Given the description of an element on the screen output the (x, y) to click on. 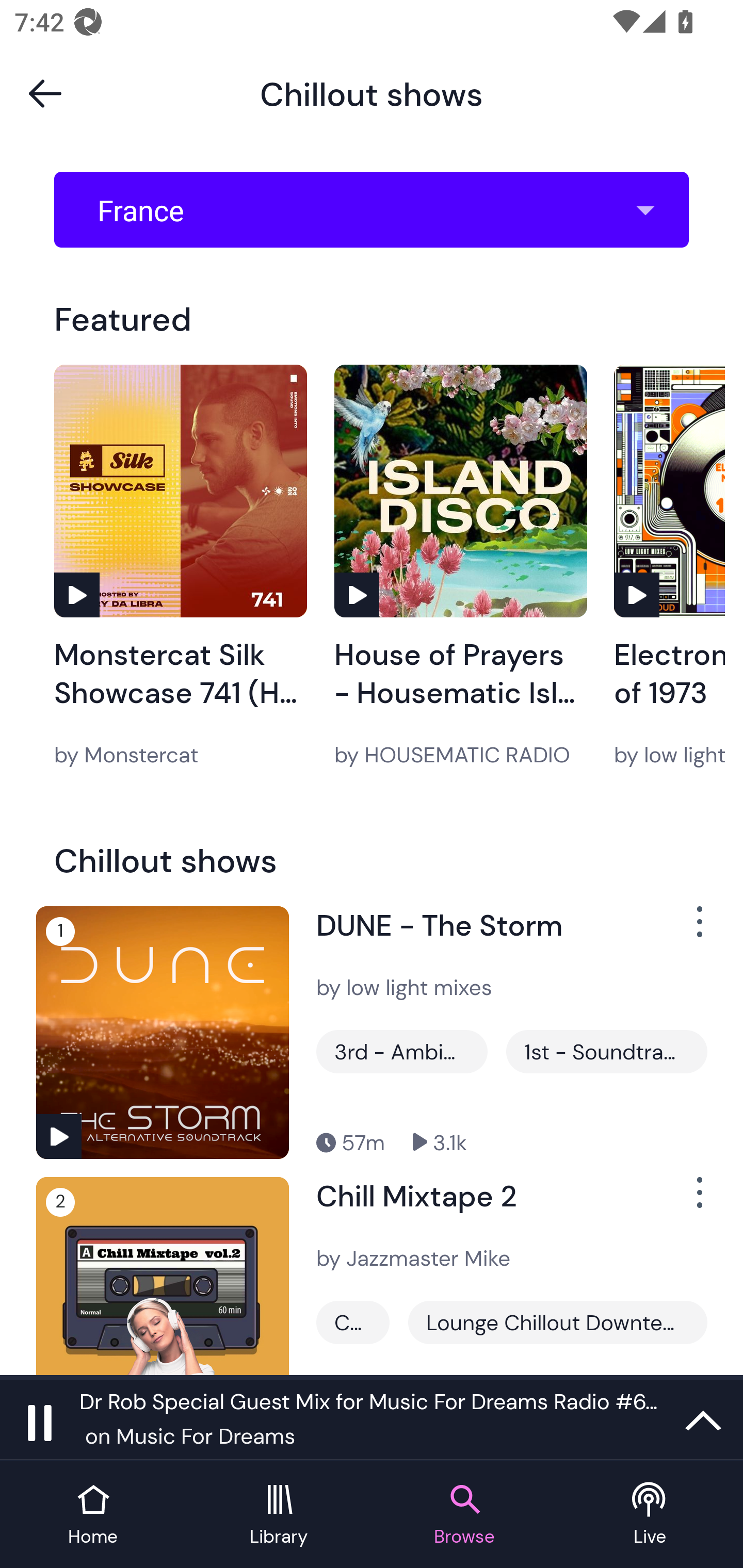
France (378, 209)
Show Options Menu Button (697, 929)
3rd - Ambient (401, 1052)
1st - Soundtracks (605, 1052)
Show Options Menu Button (697, 1200)
Chill (352, 1322)
Lounge Chillout Downtempo (556, 1322)
Home tab Home (92, 1515)
Library tab Library (278, 1515)
Browse tab Browse (464, 1515)
Live tab Live (650, 1515)
